Given the description of an element on the screen output the (x, y) to click on. 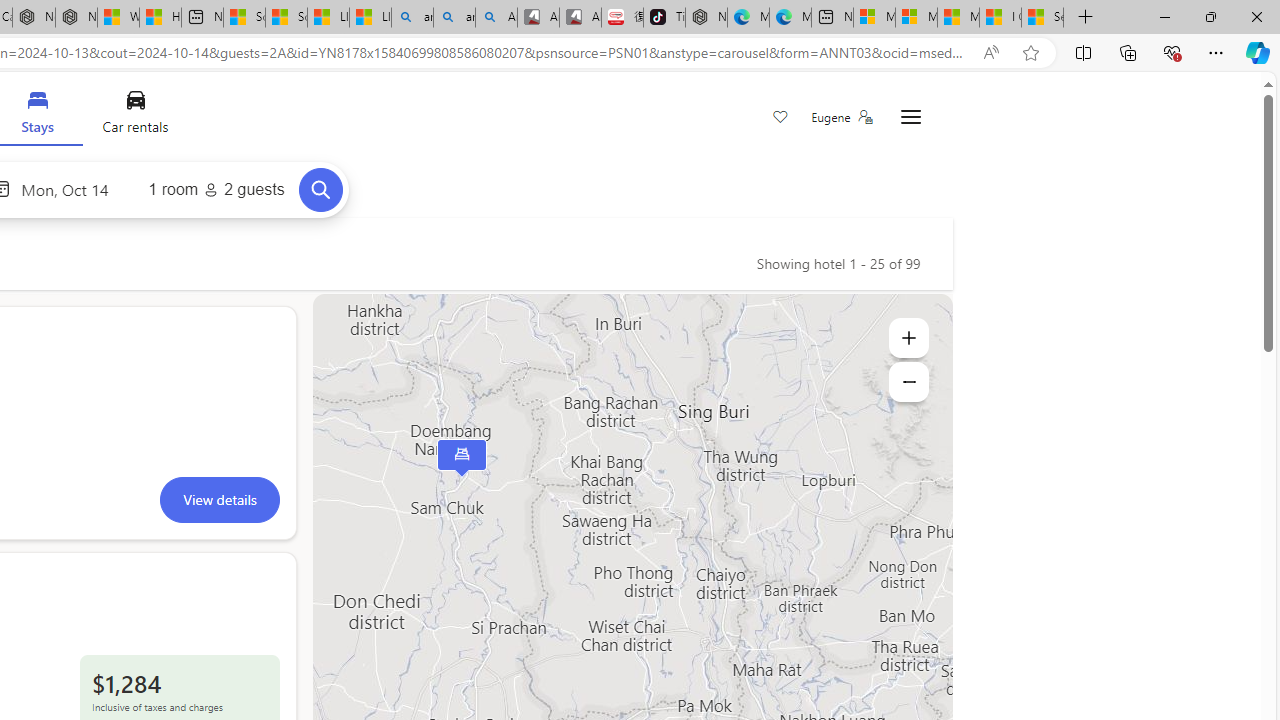
amazon - Search Images (453, 17)
TikTok (663, 17)
Amazon Echo Robot - Search Images (496, 17)
Eugene (841, 117)
